Given the description of an element on the screen output the (x, y) to click on. 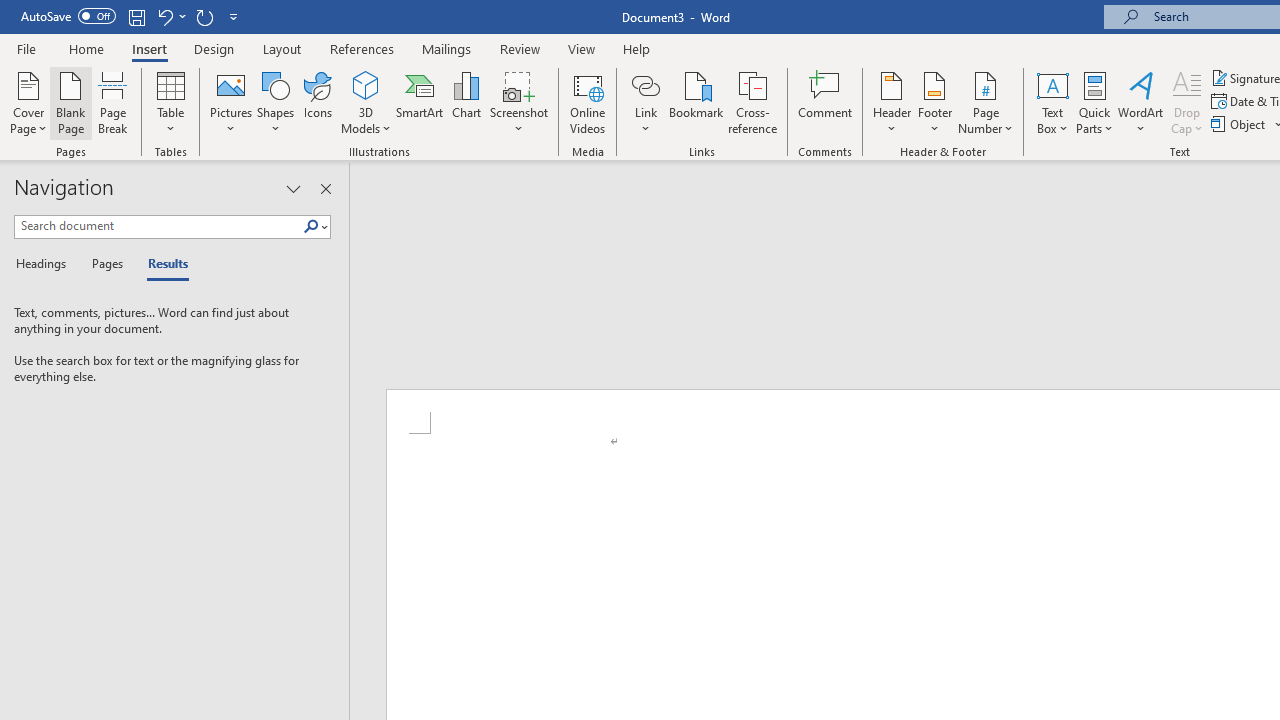
Link (645, 84)
Page Number (986, 102)
Quick Parts (1094, 102)
Header (891, 102)
Page Break (113, 102)
Text Box (1052, 102)
3D Models (366, 102)
